Given the description of an element on the screen output the (x, y) to click on. 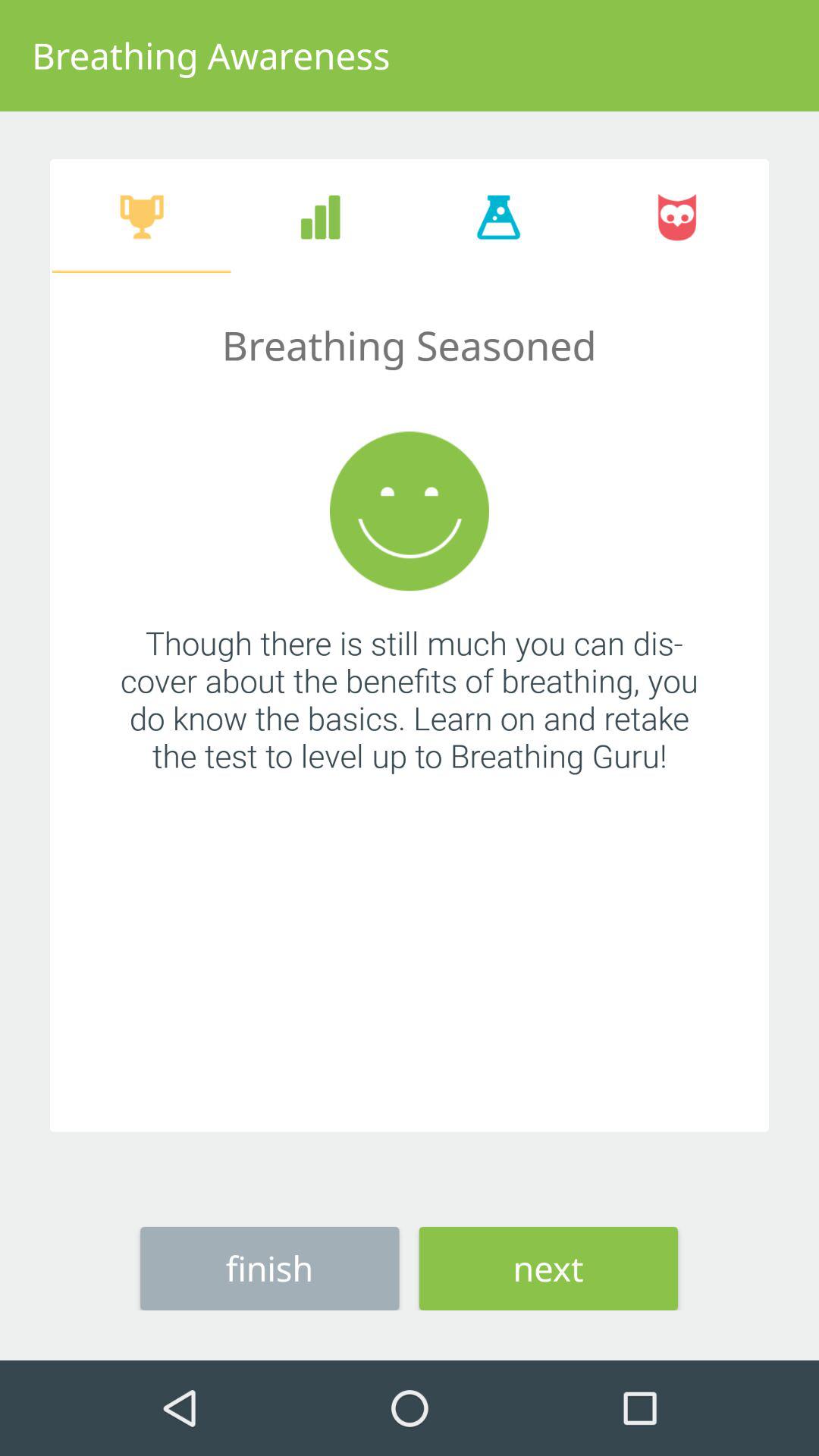
launch button next to the finish icon (548, 1268)
